Given the description of an element on the screen output the (x, y) to click on. 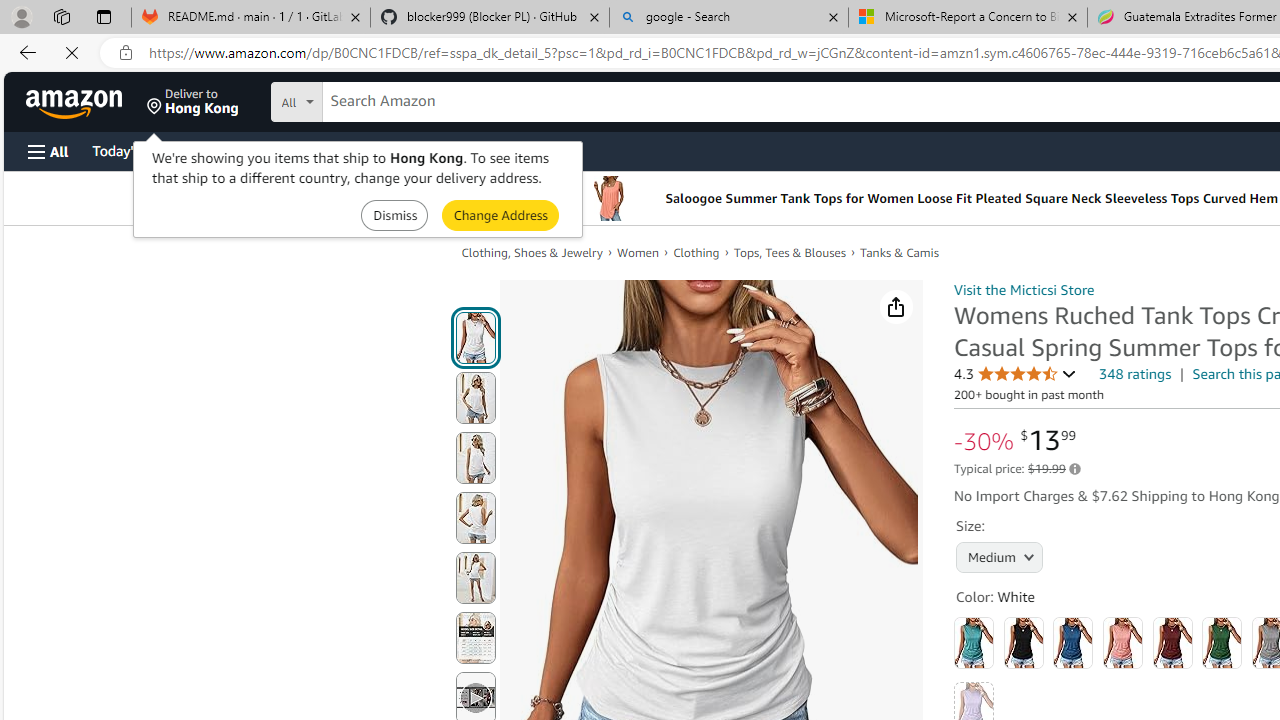
Visit the Micticsi Store (1023, 289)
Customer Service (256, 150)
Women (638, 251)
Women (645, 252)
Deliver to Hong Kong (193, 101)
Aqua (974, 642)
Clothing (696, 251)
Amazon (76, 101)
Clothing, Shoes & Jewelry (531, 251)
Dark Red (1172, 642)
